Given the description of an element on the screen output the (x, y) to click on. 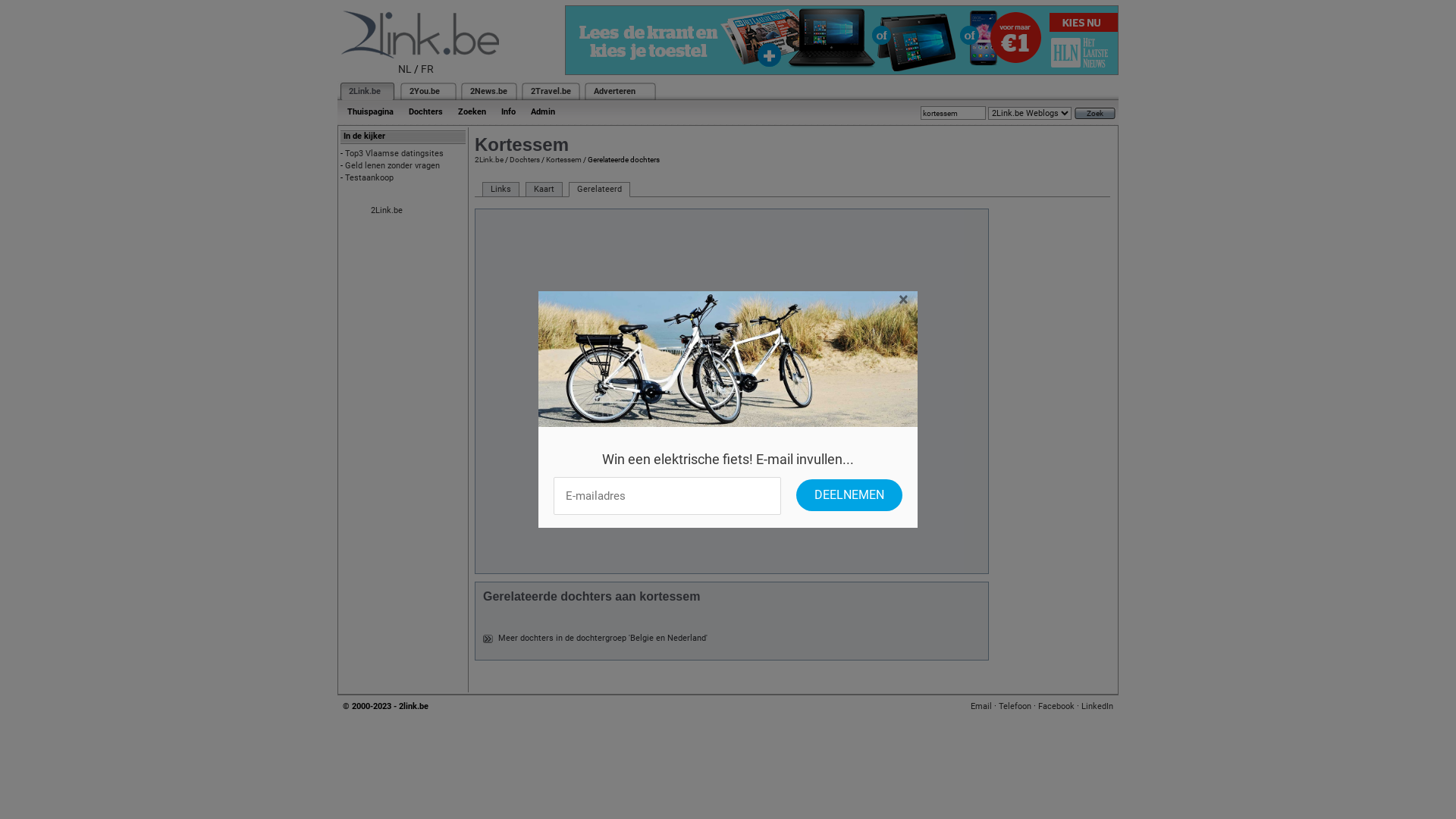
Adverteren Element type: text (614, 91)
Zoeken Element type: text (471, 111)
Gerelateerd Element type: text (599, 189)
Kortessem Element type: text (563, 159)
2News.be Element type: text (488, 91)
2Link.be Element type: text (488, 159)
Dochters Element type: text (425, 111)
Geld lenen zonder vragen Element type: text (392, 165)
Admin Element type: text (542, 111)
Zoek Element type: text (1094, 113)
Kaart Element type: text (543, 189)
Testaankoop Element type: text (369, 177)
Info Element type: text (508, 111)
Telefoon Element type: text (1014, 706)
Email Element type: text (980, 706)
2Link.be Element type: text (386, 210)
LinkedIn Element type: text (1097, 706)
2You.be Element type: text (424, 91)
NL Element type: text (404, 68)
2Link.be Element type: text (364, 91)
2Travel.be Element type: text (550, 91)
Links Element type: text (500, 189)
Facebook Element type: text (1056, 706)
Dochters Element type: text (524, 159)
Thuispagina Element type: text (370, 111)
FR Element type: text (426, 68)
Top3 Vlaamse datingsites Element type: text (394, 153)
Meer dochters in de dochtergroep 'Belgie en Nederland' Element type: text (602, 638)
